Given the description of an element on the screen output the (x, y) to click on. 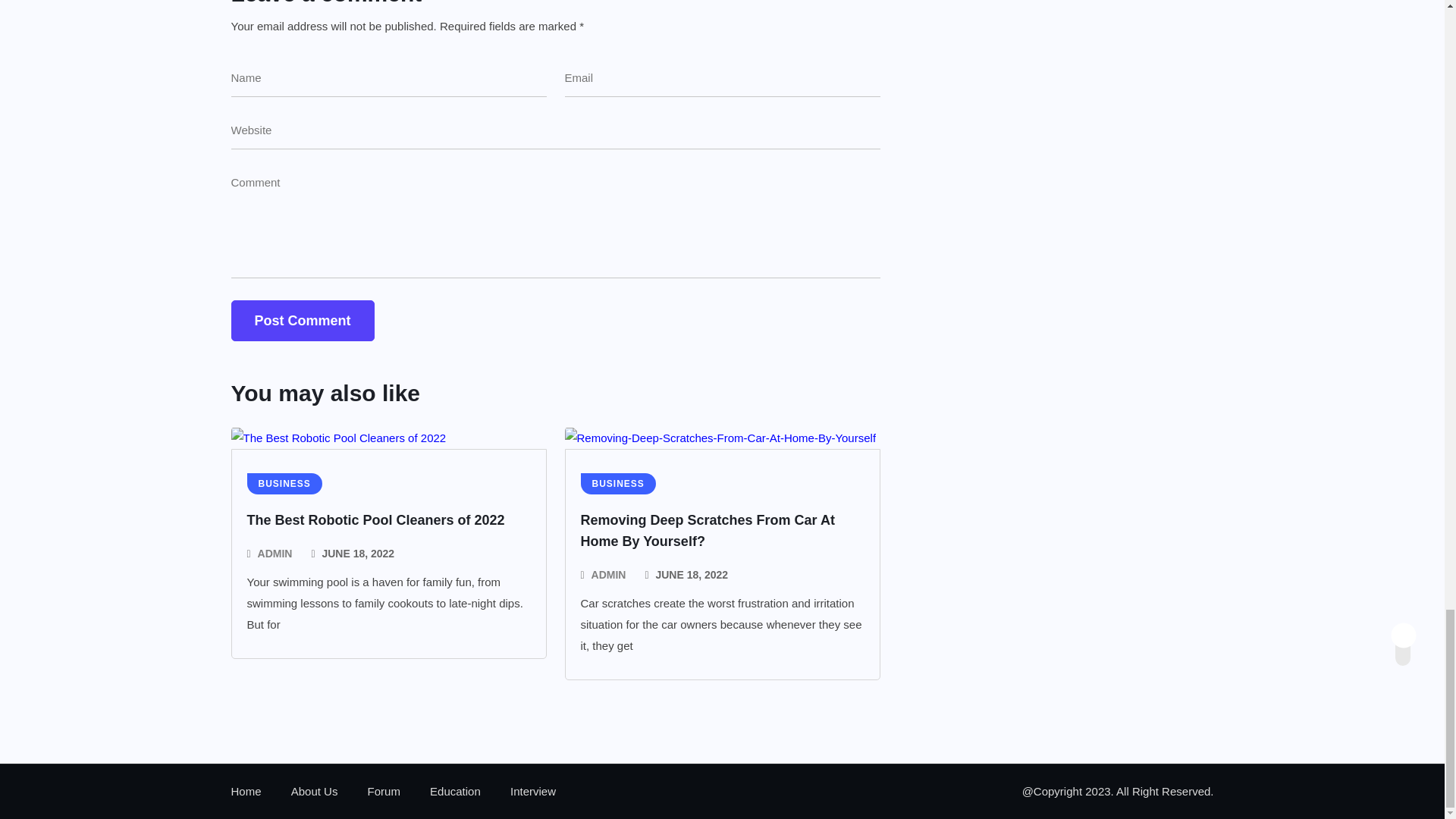
Post Comment (302, 320)
The Best Robotic Pool Cleaners of 2022 6 (337, 437)
Removing Deep Scratches From Car At Home By Yourself? 7 (720, 437)
Posts by admin (608, 574)
Posts by admin (274, 553)
